Given the description of an element on the screen output the (x, y) to click on. 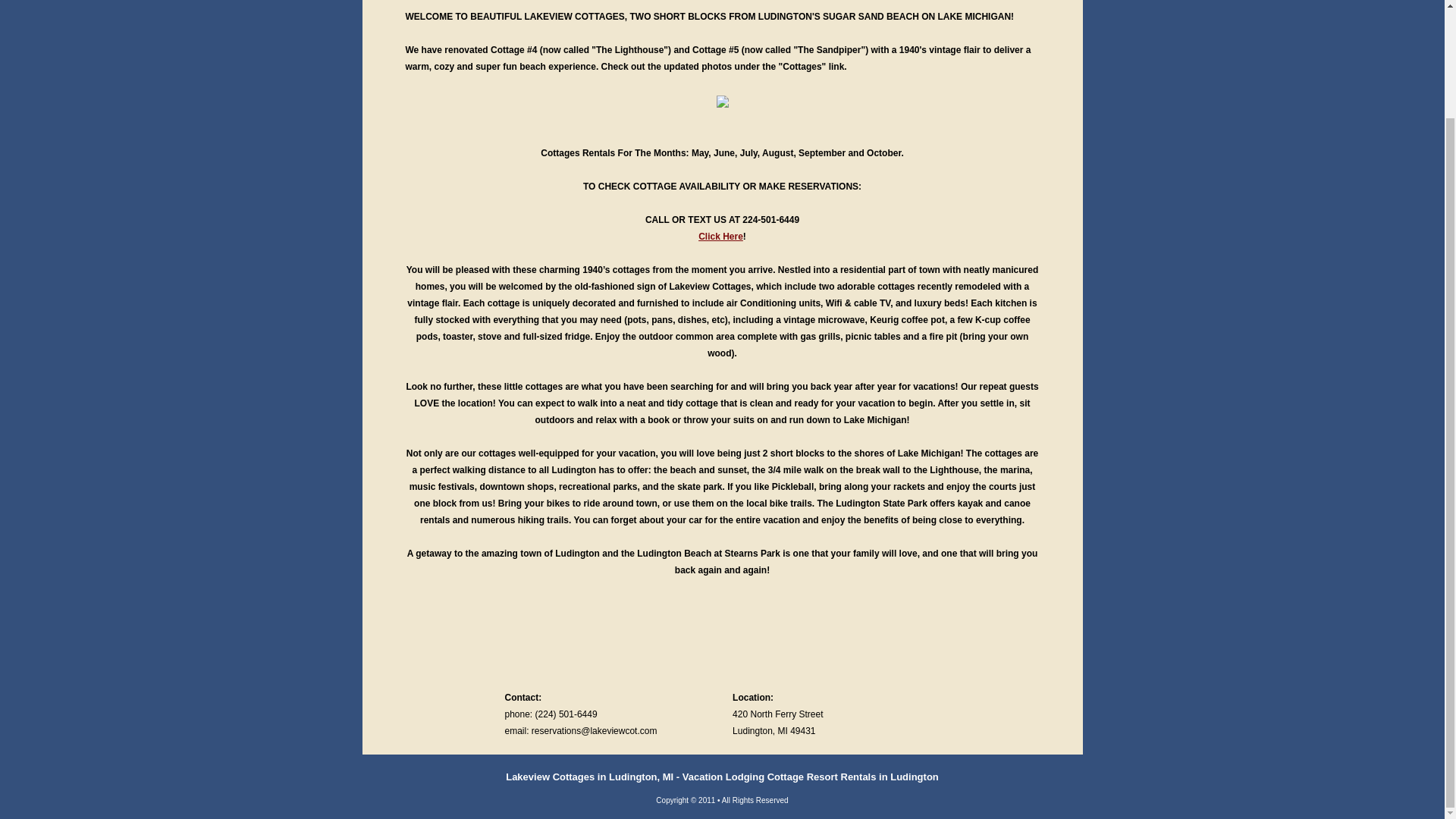
Click Here (720, 235)
